Given the description of an element on the screen output the (x, y) to click on. 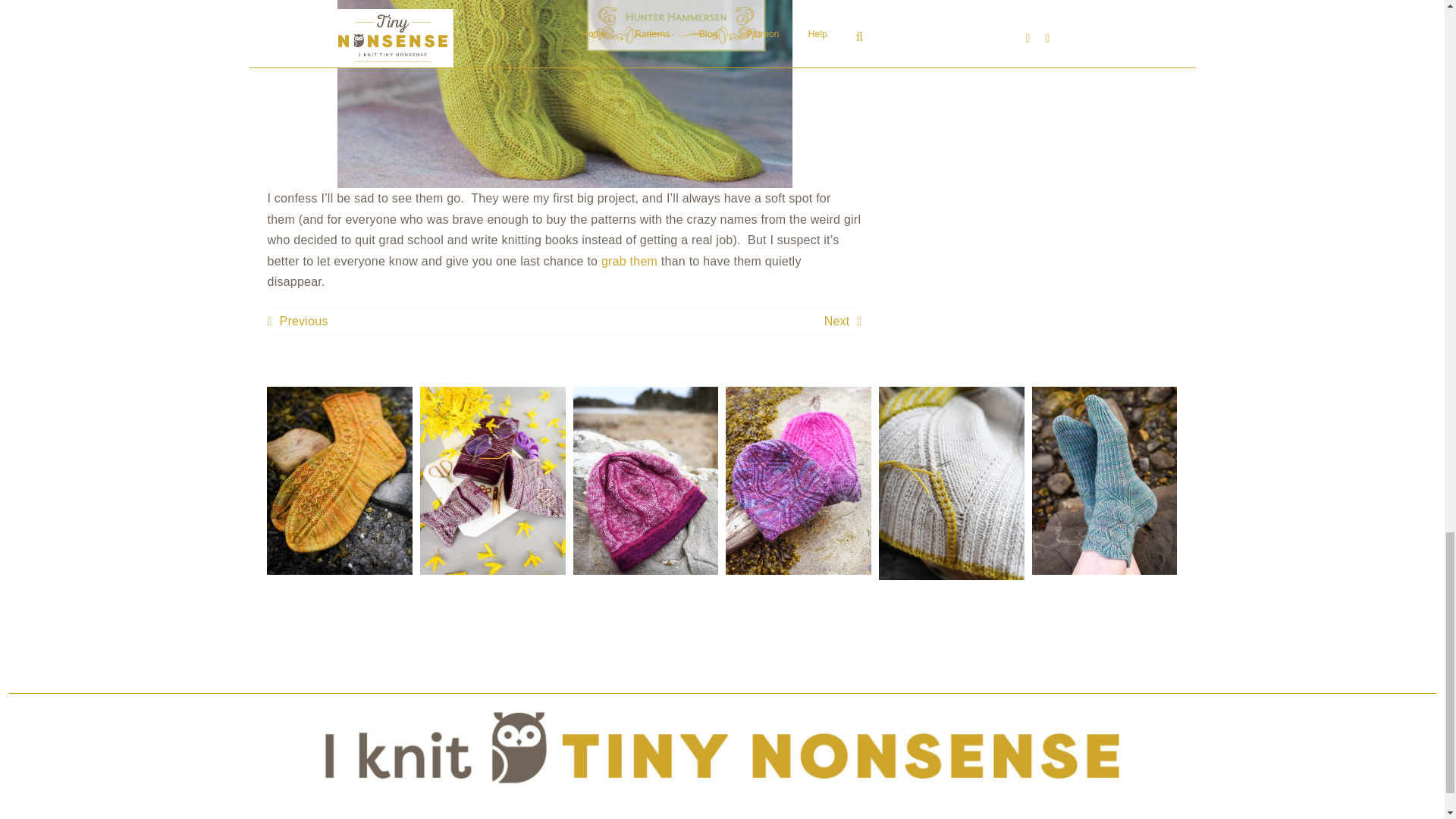
Next (842, 321)
grab them (629, 260)
Previous (296, 321)
